Given the description of an element on the screen output the (x, y) to click on. 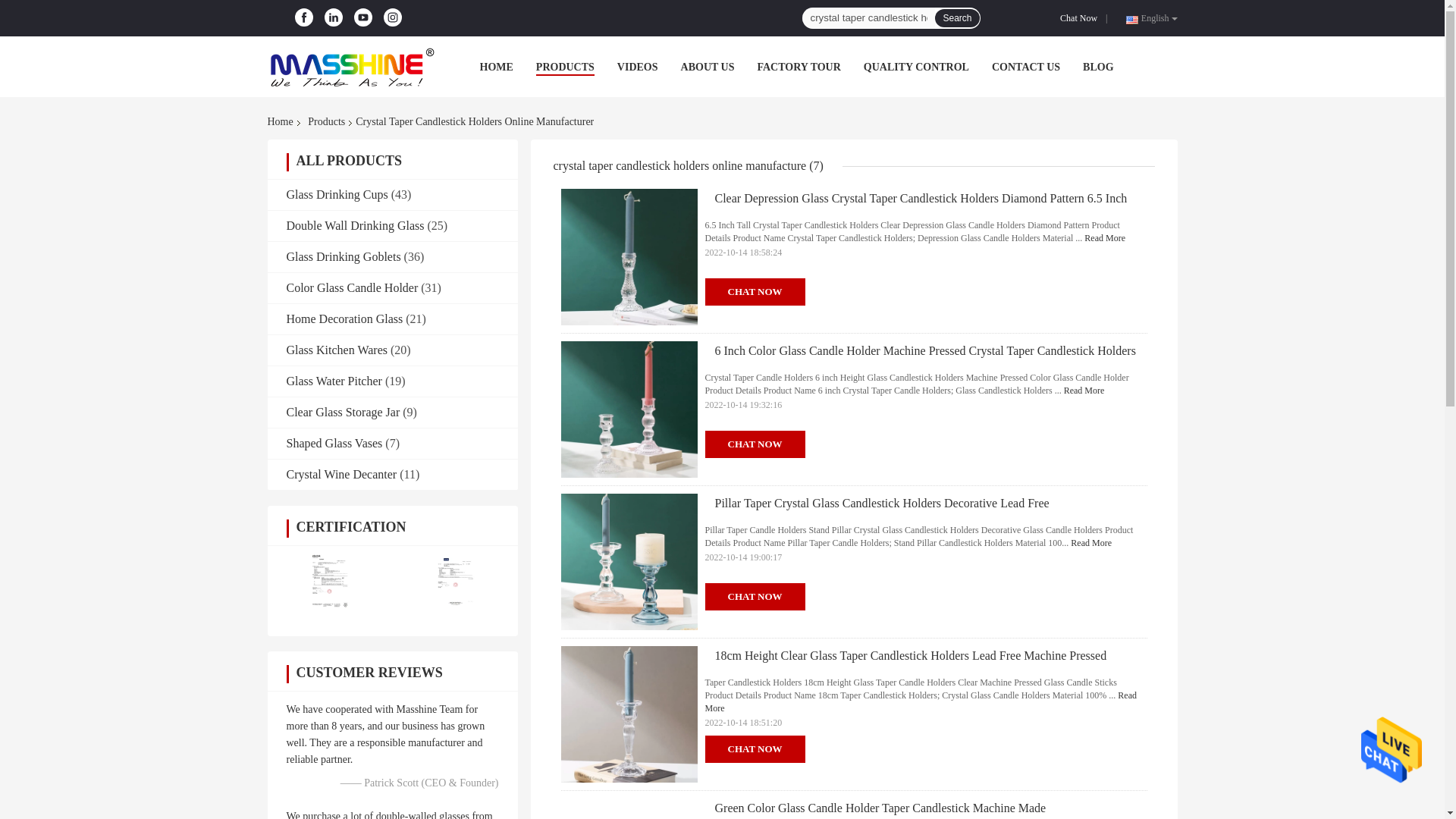
FACTORY TOUR (798, 66)
XI'AN MASSHINE HOME PRODUCTS CO., LTD. YouTube (362, 17)
XI'AN MASSHINE HOME PRODUCTS CO., LTD. LinkedIn (333, 17)
PRODUCTS (564, 66)
VIDEOS (637, 66)
crystal taper candlestick holders (868, 17)
Search (956, 18)
ABOUT US (708, 66)
XI'AN MASSHINE HOME PRODUCTS CO., LTD. Facebook (303, 17)
Chat Now (1081, 18)
HOME (495, 66)
CONTACT US (1025, 66)
Home (282, 121)
Products (325, 121)
QUALITY CONTROL (916, 66)
